Given the description of an element on the screen output the (x, y) to click on. 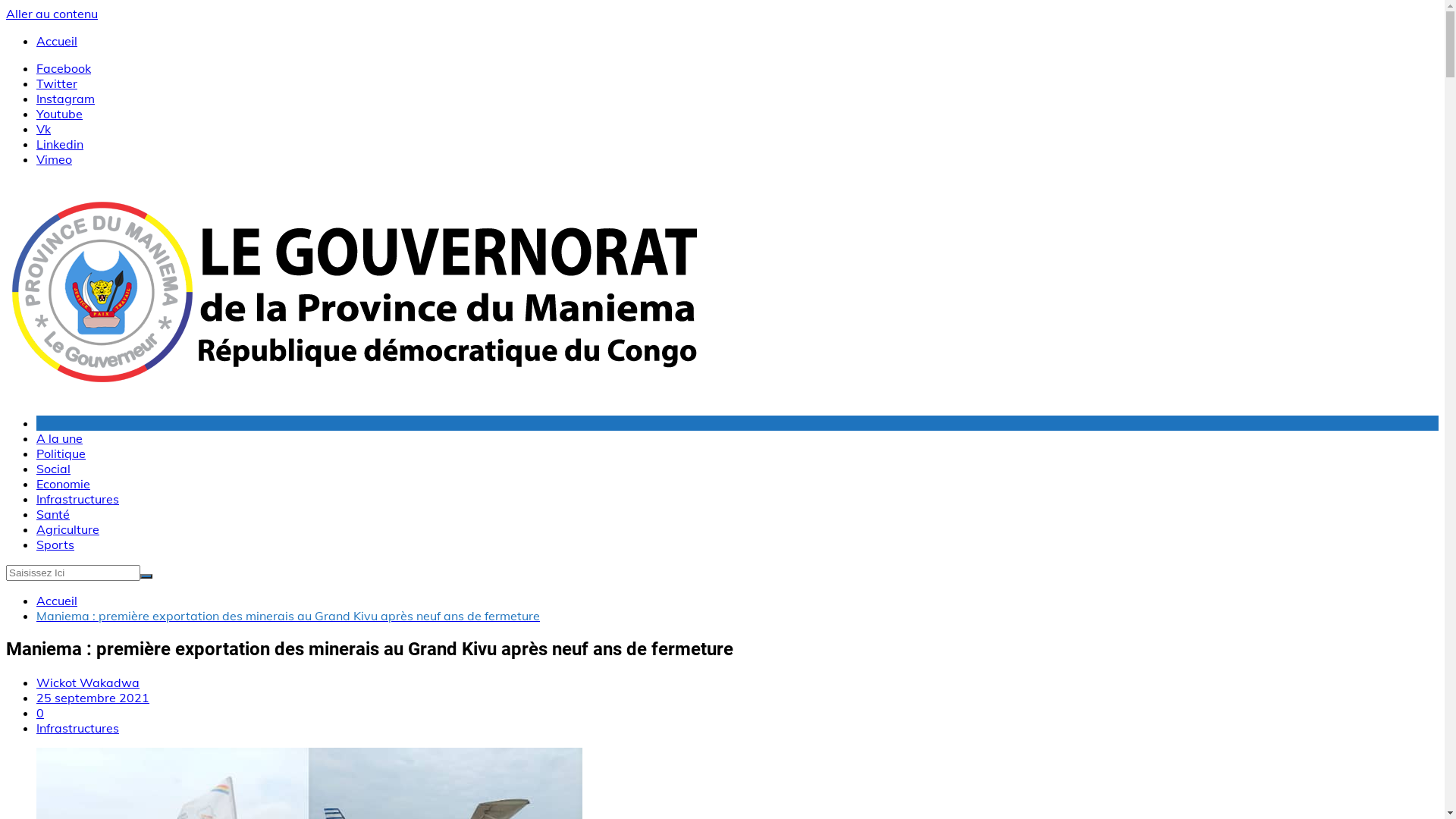
Vimeo Element type: text (54, 158)
Agriculture Element type: text (67, 528)
Infrastructures Element type: text (77, 498)
Social Element type: text (53, 468)
Facebook Element type: text (63, 67)
Sports Element type: text (55, 544)
Twitter Element type: text (56, 83)
Politique Element type: text (60, 453)
Instagram Element type: text (65, 98)
Linkedin Element type: text (59, 143)
Accueil Element type: text (56, 40)
Accueil Element type: text (56, 600)
0 Element type: text (39, 712)
Infrastructures Element type: text (77, 727)
Aller au contenu Element type: text (51, 13)
Wickot Wakadwa Element type: text (87, 682)
Economie Element type: text (63, 483)
A la une Element type: text (59, 437)
Youtube Element type: text (59, 113)
Vk Element type: text (43, 128)
25 septembre 2021 Element type: text (92, 697)
